Given the description of an element on the screen output the (x, y) to click on. 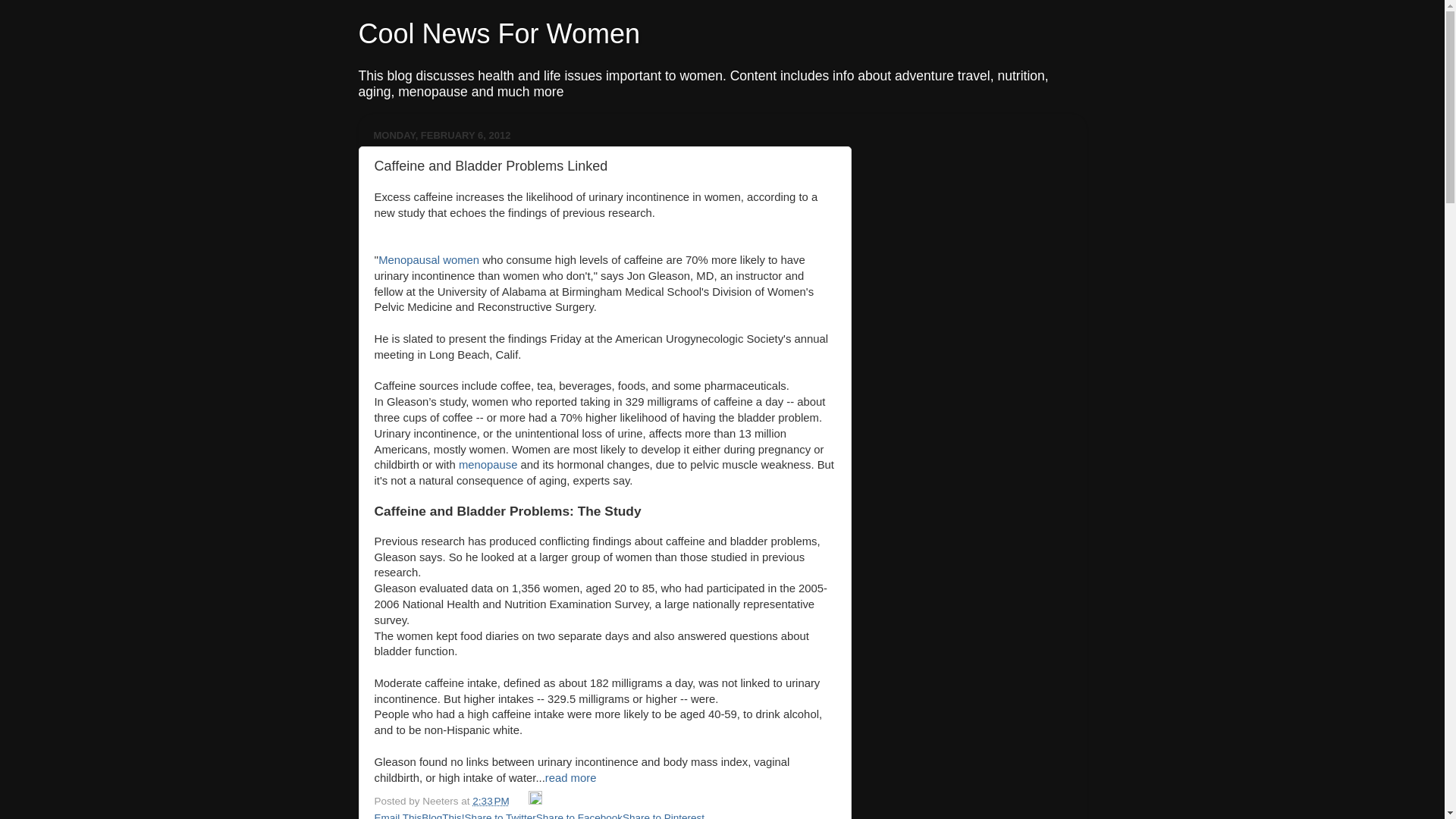
Share to Facebook (579, 815)
Email This (398, 815)
Share to Twitter (499, 815)
menopause (488, 464)
read more (570, 777)
Email This (398, 815)
Share to Twitter (499, 815)
Share to Facebook (579, 815)
permanent link (489, 800)
Menopausal women (428, 259)
Share to Pinterest (663, 815)
Email Post (520, 800)
Share to Pinterest (663, 815)
BlogThis! (443, 815)
